Given the description of an element on the screen output the (x, y) to click on. 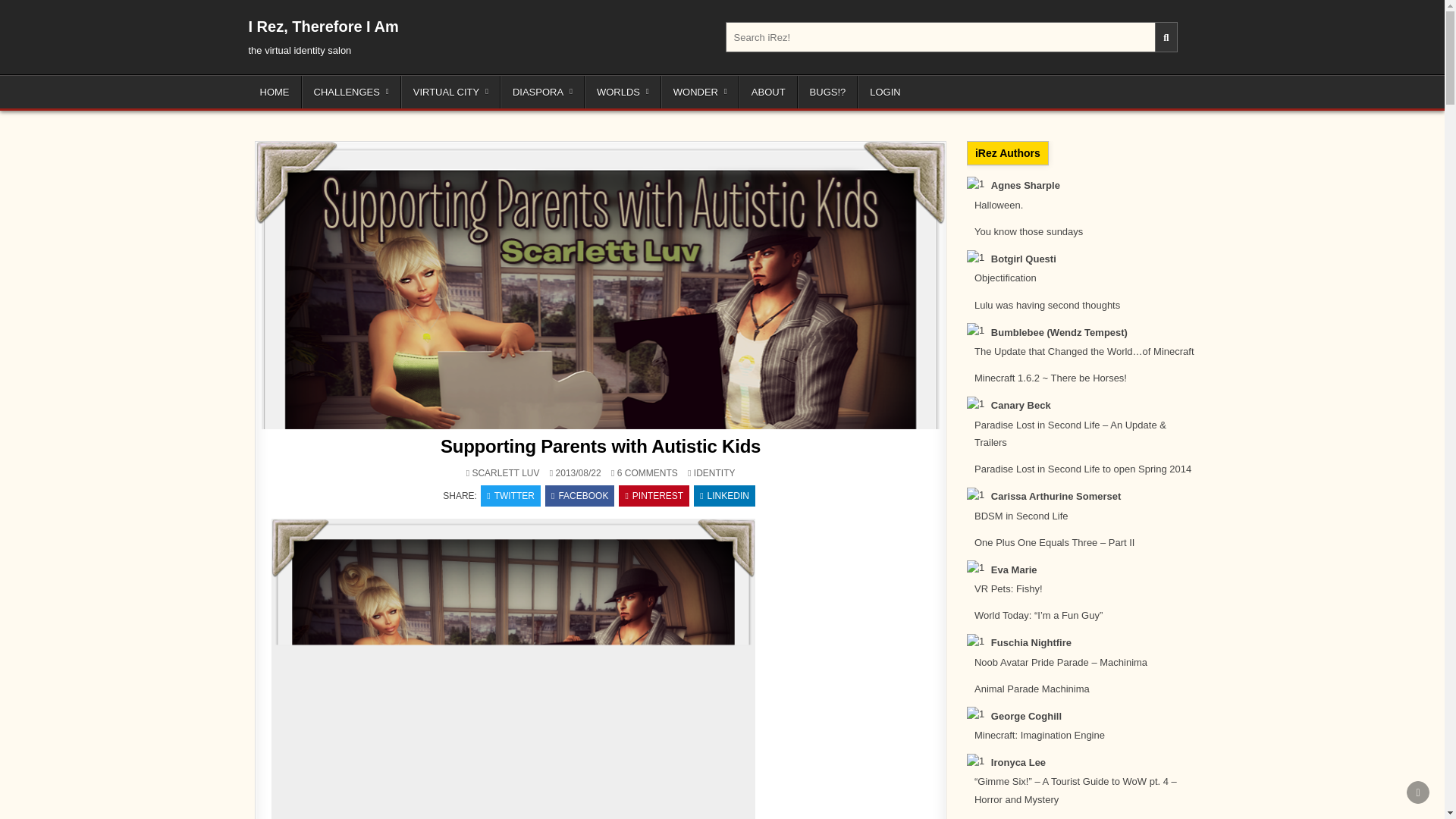
Share this on Pinterest (653, 495)
Lulu was having second thoughts (1046, 305)
Objectification (1005, 277)
Share this on Linkedin (724, 495)
Tweet This! (510, 495)
VIRTUAL CITY (450, 92)
DIASPORA (542, 92)
SCROLL TO TOP (1417, 792)
WORLDS (623, 92)
